Given the description of an element on the screen output the (x, y) to click on. 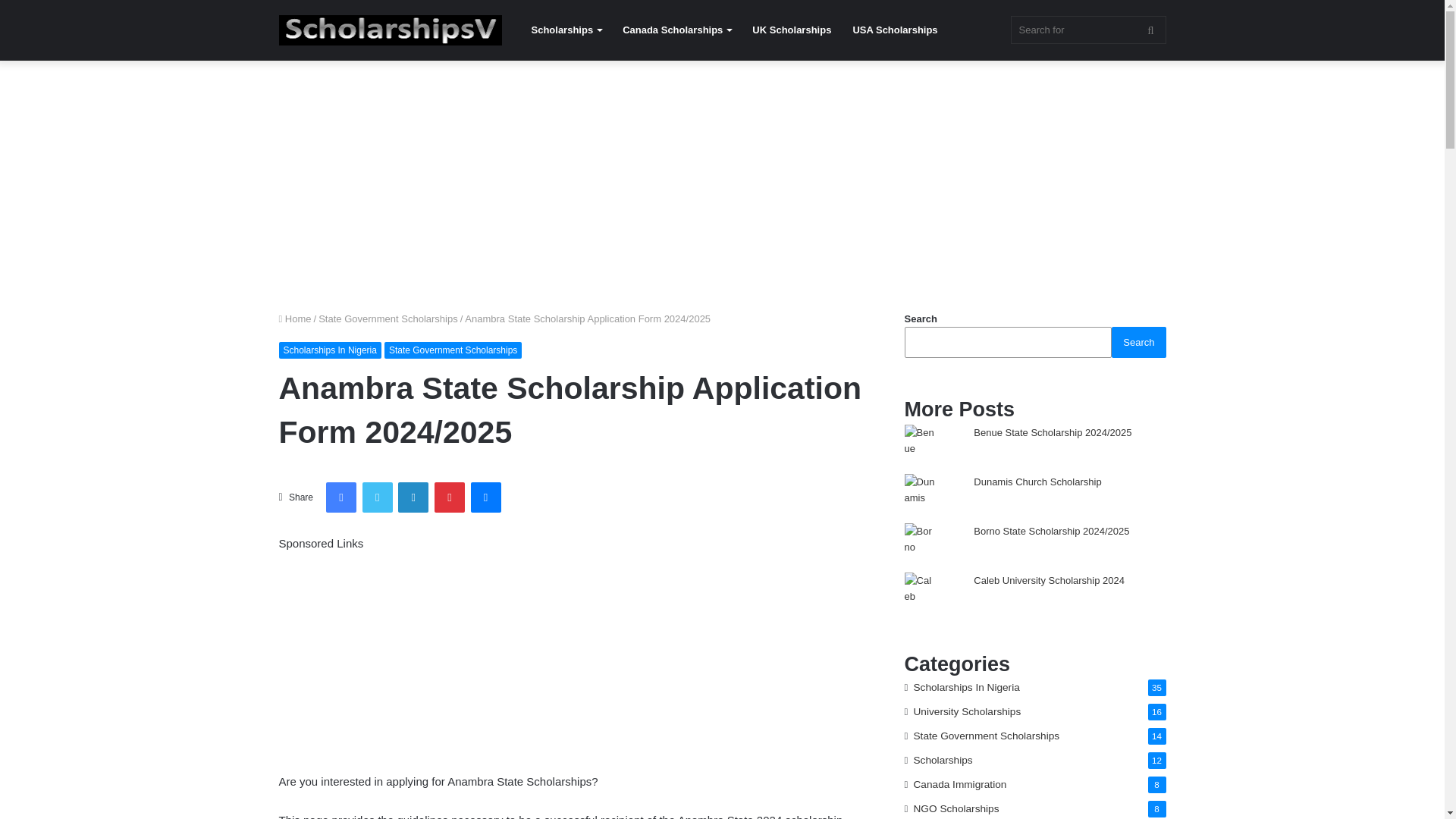
Twitter (377, 497)
Search for (1088, 29)
LinkedIn (412, 497)
Home (295, 318)
Scholarships In Nigeria (330, 350)
UK Scholarships (791, 30)
State Government Scholarships (388, 318)
ScholarshipsV (390, 30)
Facebook (341, 497)
USA Scholarships (894, 30)
Pinterest (448, 497)
Messenger (485, 497)
LinkedIn (412, 497)
State Government Scholarships (452, 350)
